Given the description of an element on the screen output the (x, y) to click on. 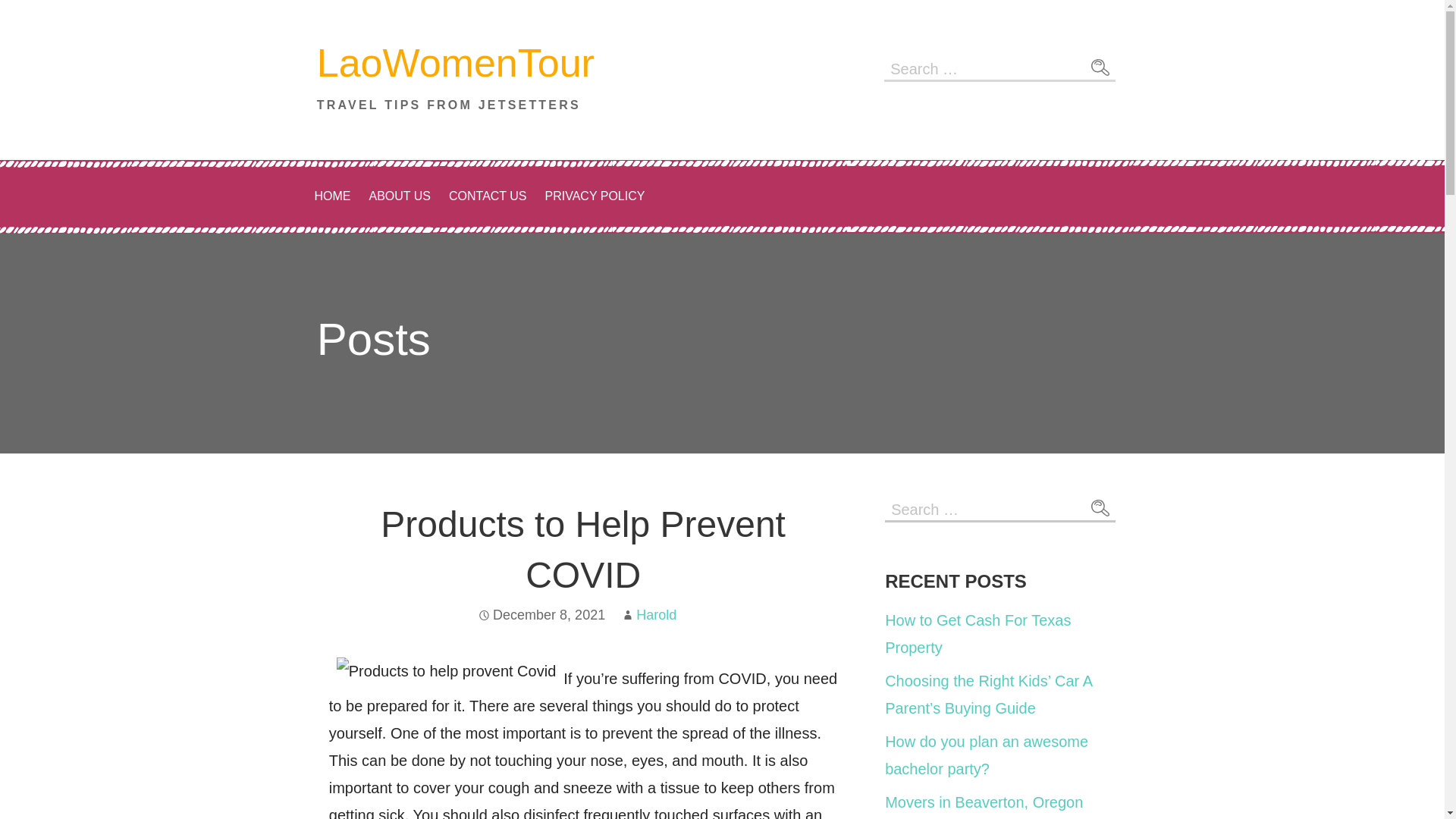
CONTACT US (487, 196)
HOME (331, 196)
Search (1099, 67)
ABOUT US (399, 196)
Search (1099, 507)
PRIVACY POLICY (594, 196)
Harold (656, 614)
Search (1099, 507)
Search (1099, 67)
Movers in Beaverton, Oregon (984, 801)
Search (1099, 507)
How do you plan an awesome bachelor party? (986, 755)
LaoWomenTour (455, 62)
Posts by Harold (656, 614)
